Given the description of an element on the screen output the (x, y) to click on. 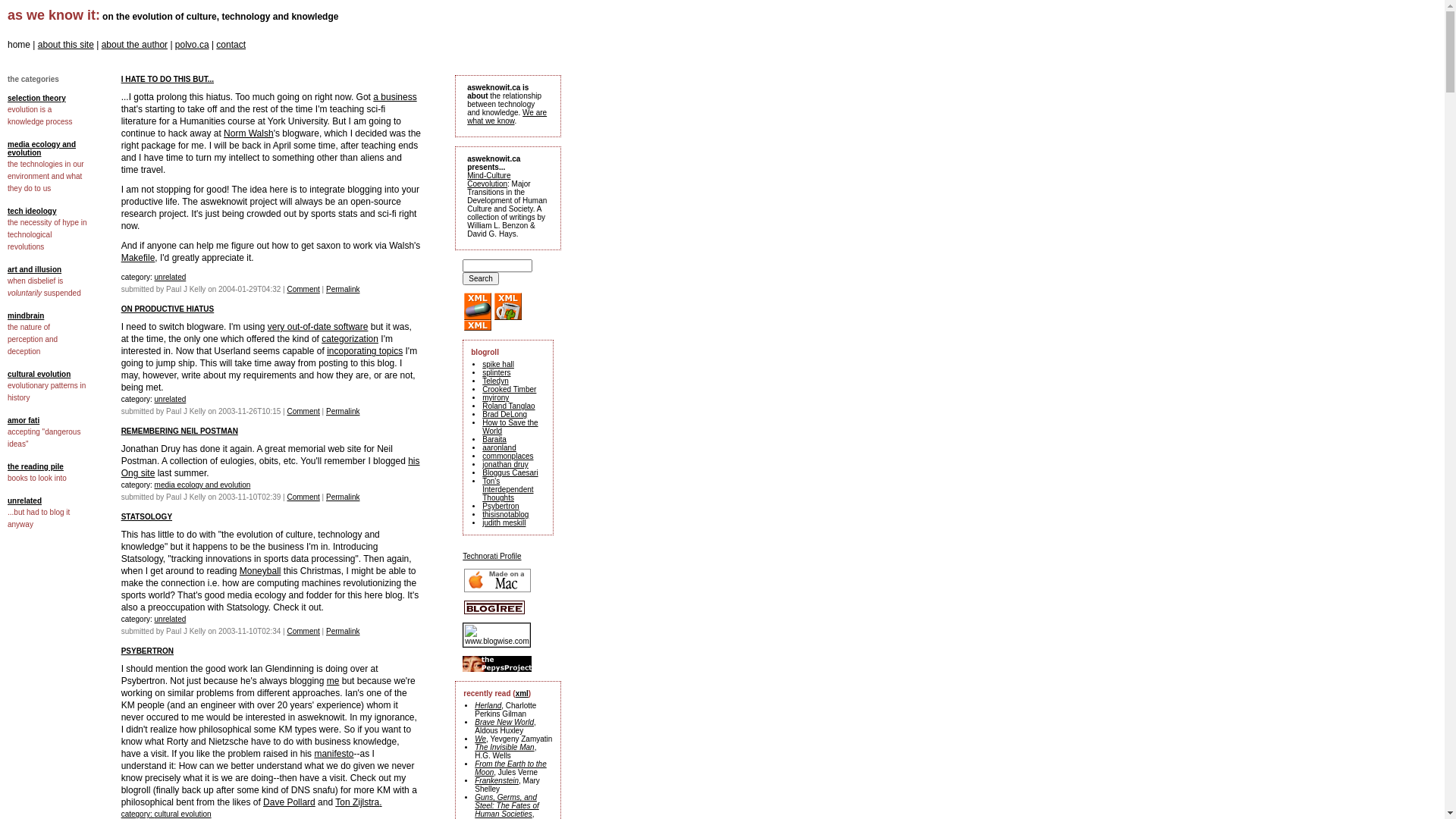
How to Save the World Element type: text (509, 426)
Comment Element type: text (302, 496)
media ecology and evolution Element type: text (41, 148)
We are what we know Element type: text (506, 116)
Permalink Element type: text (342, 496)
tech ideology Element type: text (31, 211)
Herland Element type: text (487, 705)
Mind-Culture Coevolution Element type: text (488, 179)
cultural evolution Element type: text (38, 374)
manifesto Element type: text (333, 753)
Comment Element type: text (302, 631)
aaronland Element type: text (498, 447)
unrelated Element type: text (24, 500)
amor fati Element type: text (23, 420)
xml Element type: text (521, 693)
Comment Element type: text (302, 411)
Baraita Element type: text (494, 439)
The Invisible Man Element type: text (503, 747)
selection theory Element type: text (36, 98)
Permalink Element type: text (342, 289)
judith meskill Element type: text (503, 522)
Makefile Element type: text (138, 257)
thisisnotablog Element type: text (505, 514)
jonathan druy Element type: text (505, 464)
Norm Walsh Element type: text (248, 133)
PSYBERTRON Element type: text (147, 650)
ON PRODUCTIVE HIATUS Element type: text (167, 308)
Technorati Profile Element type: text (491, 556)
me Element type: text (332, 680)
Permalink Element type: text (342, 631)
Ton Zijlstra. Element type: text (358, 802)
Bloggus Caesari Element type: text (509, 472)
categorization Element type: text (349, 338)
polvo.ca Element type: text (192, 44)
Permalink Element type: text (342, 411)
unrelated Element type: text (170, 619)
Ton's Interdependent Thoughts Element type: text (507, 489)
commonplaces Element type: text (507, 455)
very out-of-date software Element type: text (317, 326)
cultural evolution Element type: text (182, 813)
Frankenstein Element type: text (496, 780)
We Element type: text (480, 738)
I HATE TO DO THIS BUT... Element type: text (167, 79)
spike hall Element type: text (498, 364)
Comment Element type: text (302, 289)
REMEMBERING NEIL POSTMAN Element type: text (179, 430)
From the Earth to the Moon Element type: text (510, 767)
Search Element type: text (480, 278)
Moneyball Element type: text (260, 570)
Brad DeLong Element type: text (504, 414)
splinters Element type: text (496, 372)
contact Element type: text (230, 44)
about this site Element type: text (65, 44)
Psybertron Element type: text (500, 506)
Brave New World Element type: text (503, 722)
mindbrain Element type: text (25, 315)
myirony Element type: text (495, 397)
unrelated Element type: text (170, 277)
Guns, Germs, and Steel: The Fates of Human Societies Element type: text (506, 805)
Roland Tanglao Element type: text (508, 405)
STATSOLOGY Element type: text (146, 516)
a business Element type: text (394, 96)
art and illusion Element type: text (34, 269)
Dave Pollard Element type: text (289, 802)
about the author Element type: text (134, 44)
category:  Element type: text (137, 813)
Crooked Timber Element type: text (509, 389)
media ecology and evolution Element type: text (202, 484)
unrelated Element type: text (170, 399)
the reading pile Element type: text (35, 466)
incoporating topics Element type: text (364, 350)
Teledyn Element type: text (495, 380)
his Ong site Element type: text (270, 466)
